Given the description of an element on the screen output the (x, y) to click on. 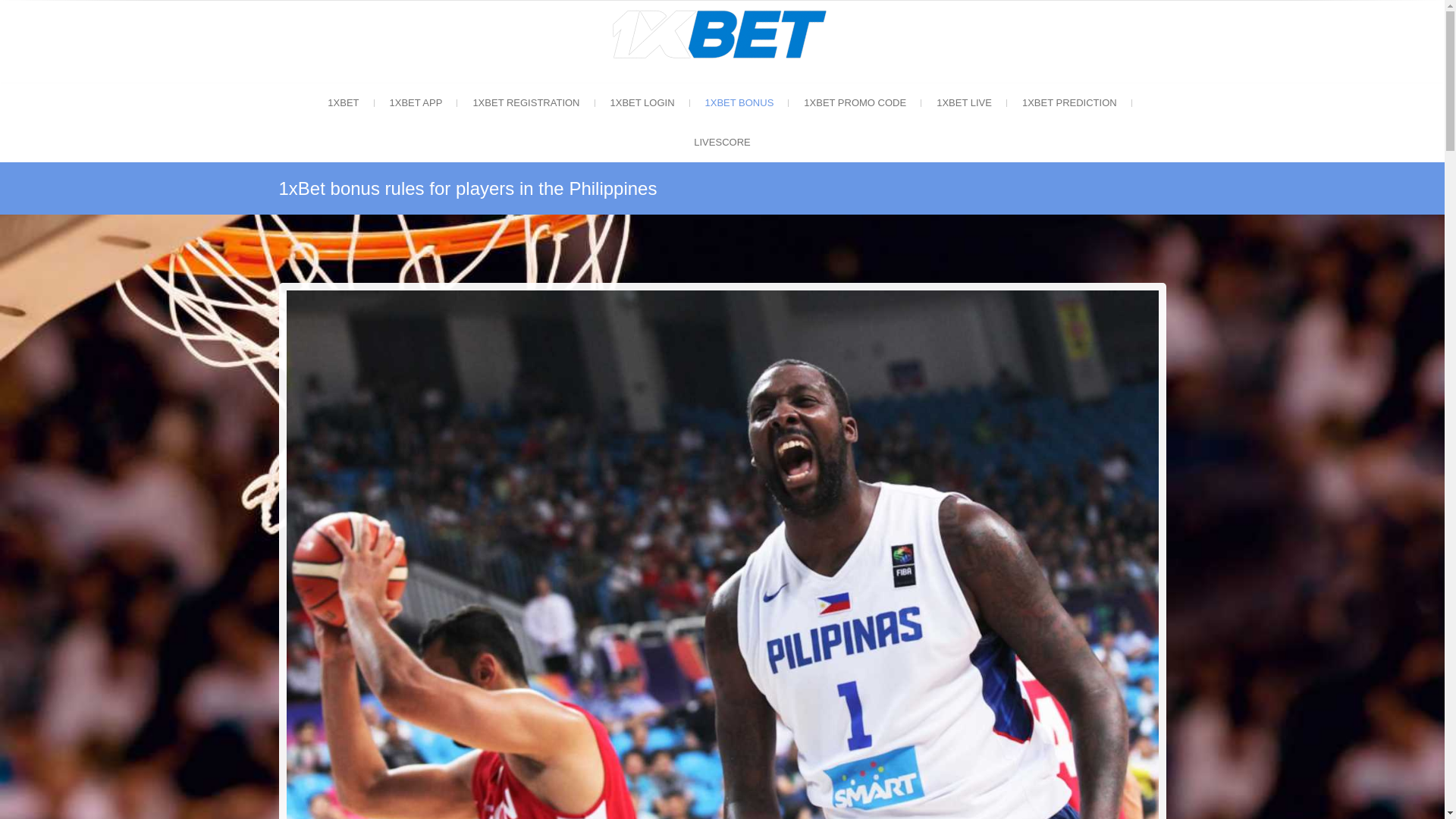
1xbet-messenger-ph.com Element type: text (952, 27)
1XBET LOGIN Element type: text (641, 102)
LIVESCORE Element type: text (721, 142)
1XBET PREDICTION Element type: text (1069, 102)
1XBET Element type: text (342, 102)
Skip to content Element type: text (0, 7)
1XBET APP Element type: text (416, 102)
1XBET LIVE Element type: text (964, 102)
1XBET BONUS Element type: text (739, 102)
1xbet-messenger-ph.com Element type: hover (722, 15)
1XBET PROMO CODE Element type: text (854, 102)
1XBET REGISTRATION Element type: text (525, 102)
